Given the description of an element on the screen output the (x, y) to click on. 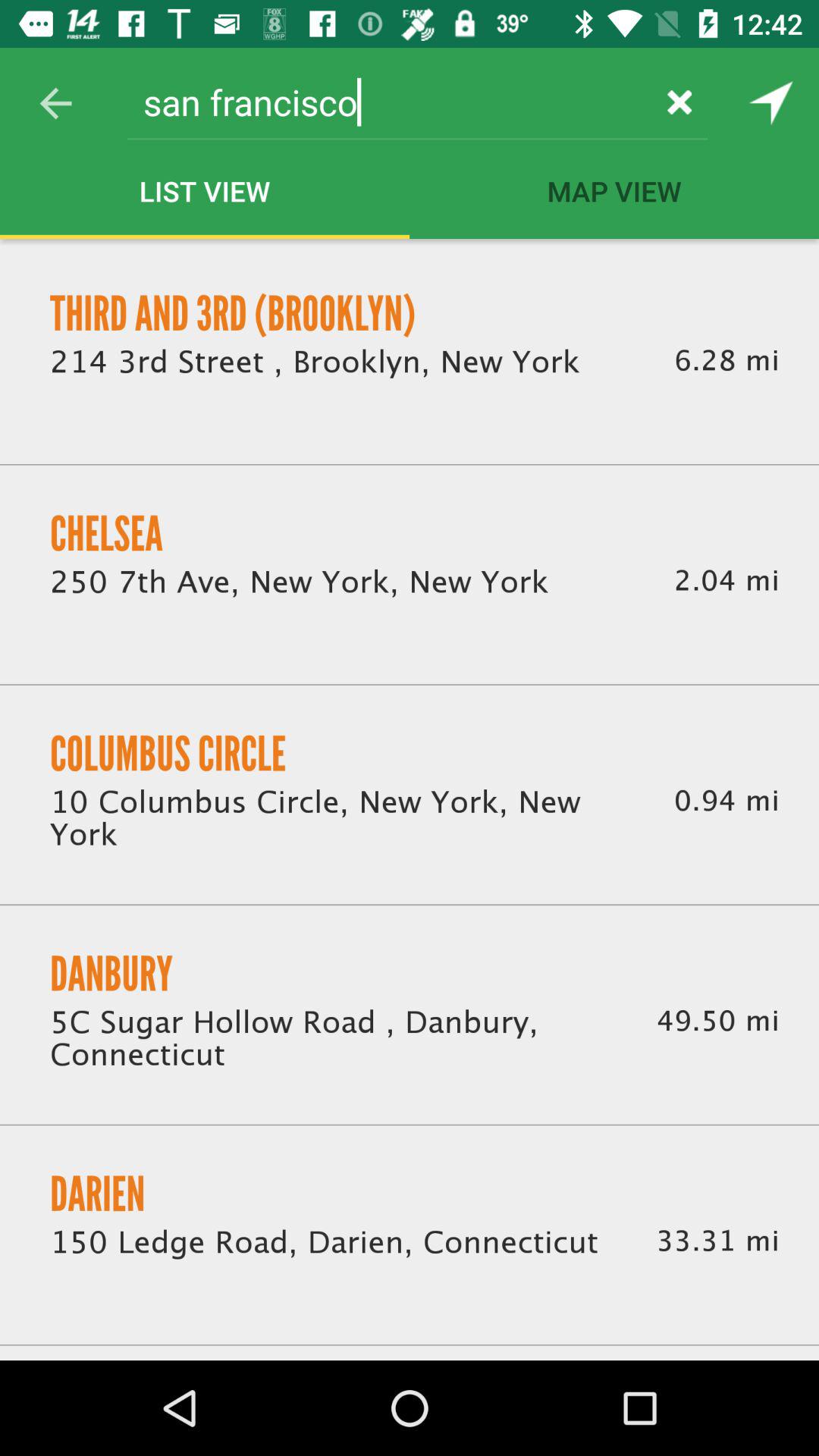
launch the item to the left of the san francisco (55, 103)
